Given the description of an element on the screen output the (x, y) to click on. 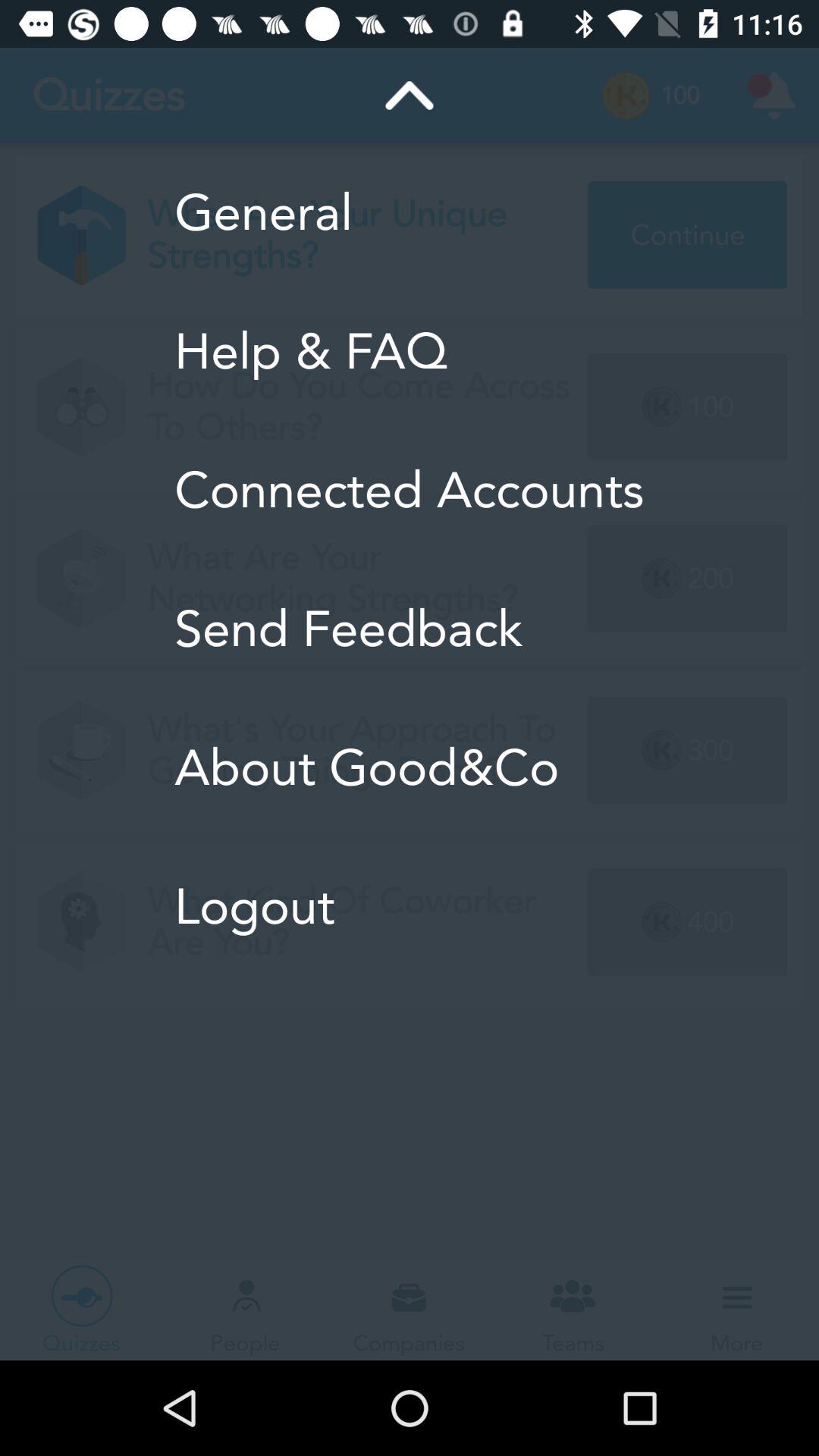
launch the item above the logout icon (408, 767)
